Given the description of an element on the screen output the (x, y) to click on. 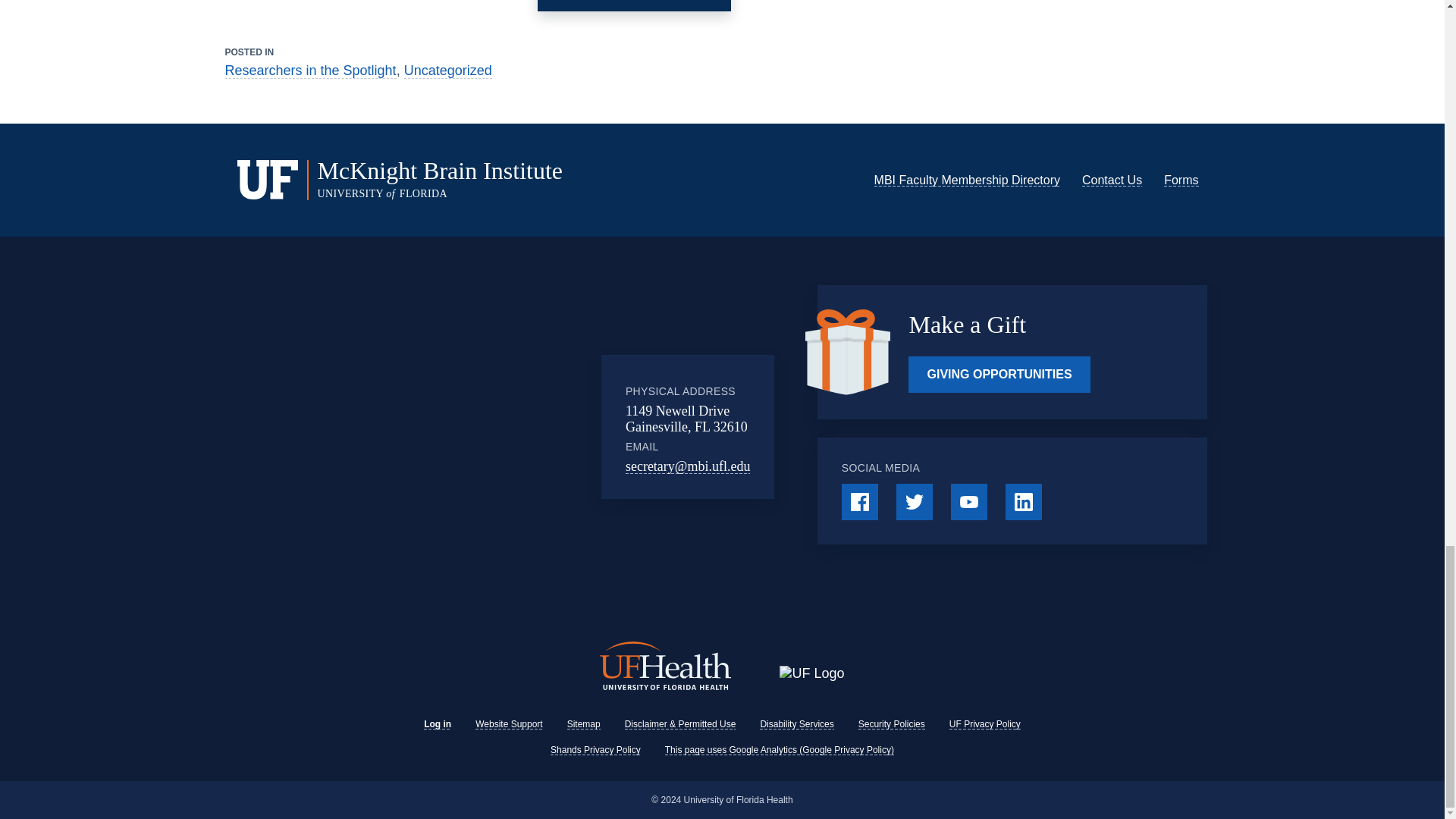
Forms (1180, 179)
Security Policies (891, 724)
MBI Faculty Membership Directory (967, 179)
Contact Us (1111, 179)
Disability Services (796, 724)
Website Support (509, 724)
UF Privacy Policy (984, 724)
Log in (437, 724)
Sitemap (583, 724)
Google Maps Embed (477, 426)
Shands Privacy Policy (595, 749)
